Given the description of an element on the screen output the (x, y) to click on. 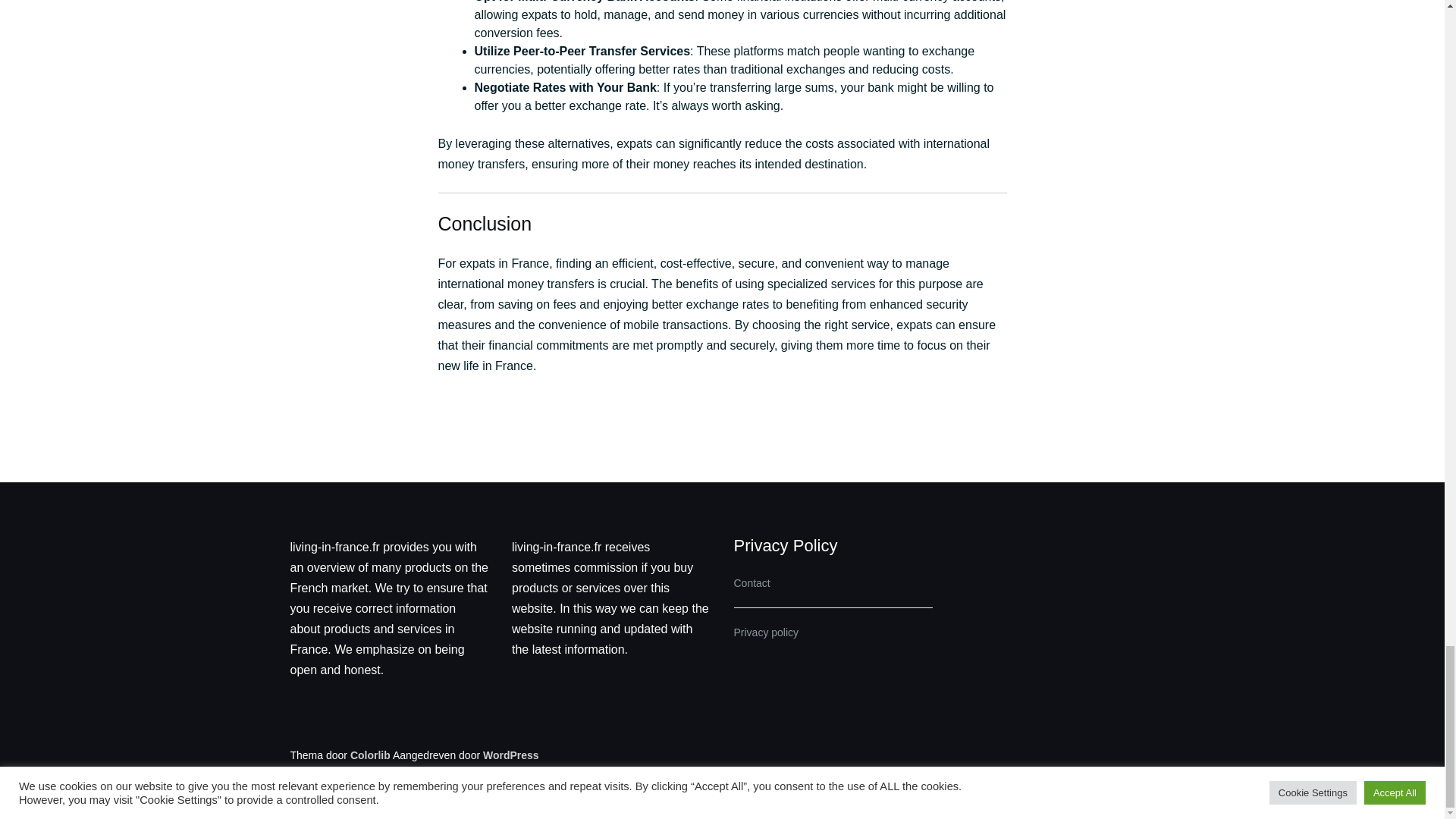
Colorlib (370, 755)
WordPress (510, 755)
Colorlib (370, 755)
WordPress.org (510, 755)
Privacy policy (766, 632)
Contact (751, 582)
